Given the description of an element on the screen output the (x, y) to click on. 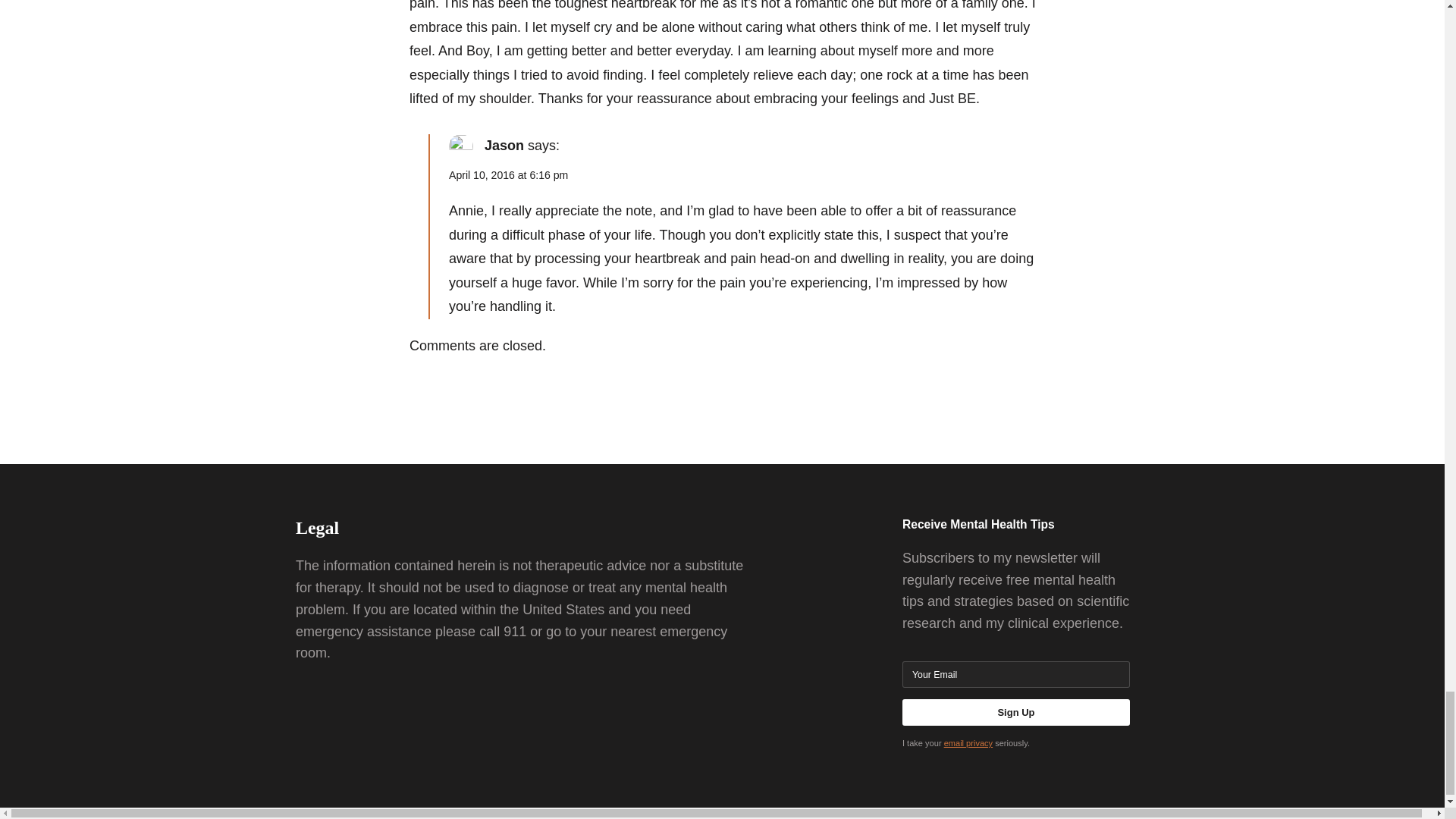
Your Email (1015, 673)
April 10, 2016 at 6:16 pm (507, 174)
Sign Up (1015, 712)
email privacy (967, 742)
Sign Up (1015, 712)
Privacy Policy (967, 742)
